Given the description of an element on the screen output the (x, y) to click on. 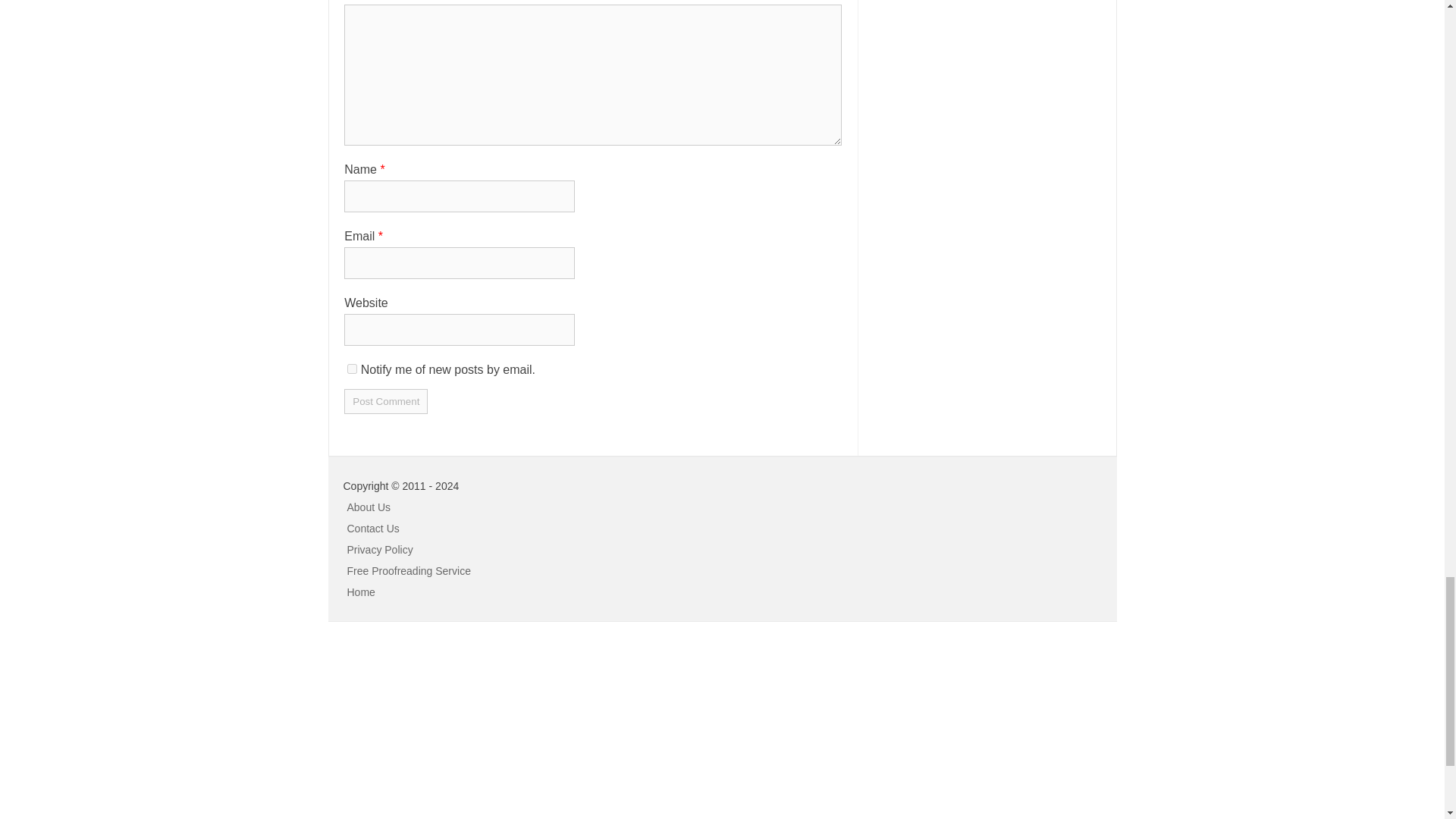
Home (361, 592)
subscribe (351, 368)
Privacy Policy (380, 549)
Advertisement (113, 729)
Post Comment (385, 401)
Post Comment (385, 401)
Free Proofreading Service (408, 571)
Contact Us (372, 528)
About Us (369, 507)
